Given the description of an element on the screen output the (x, y) to click on. 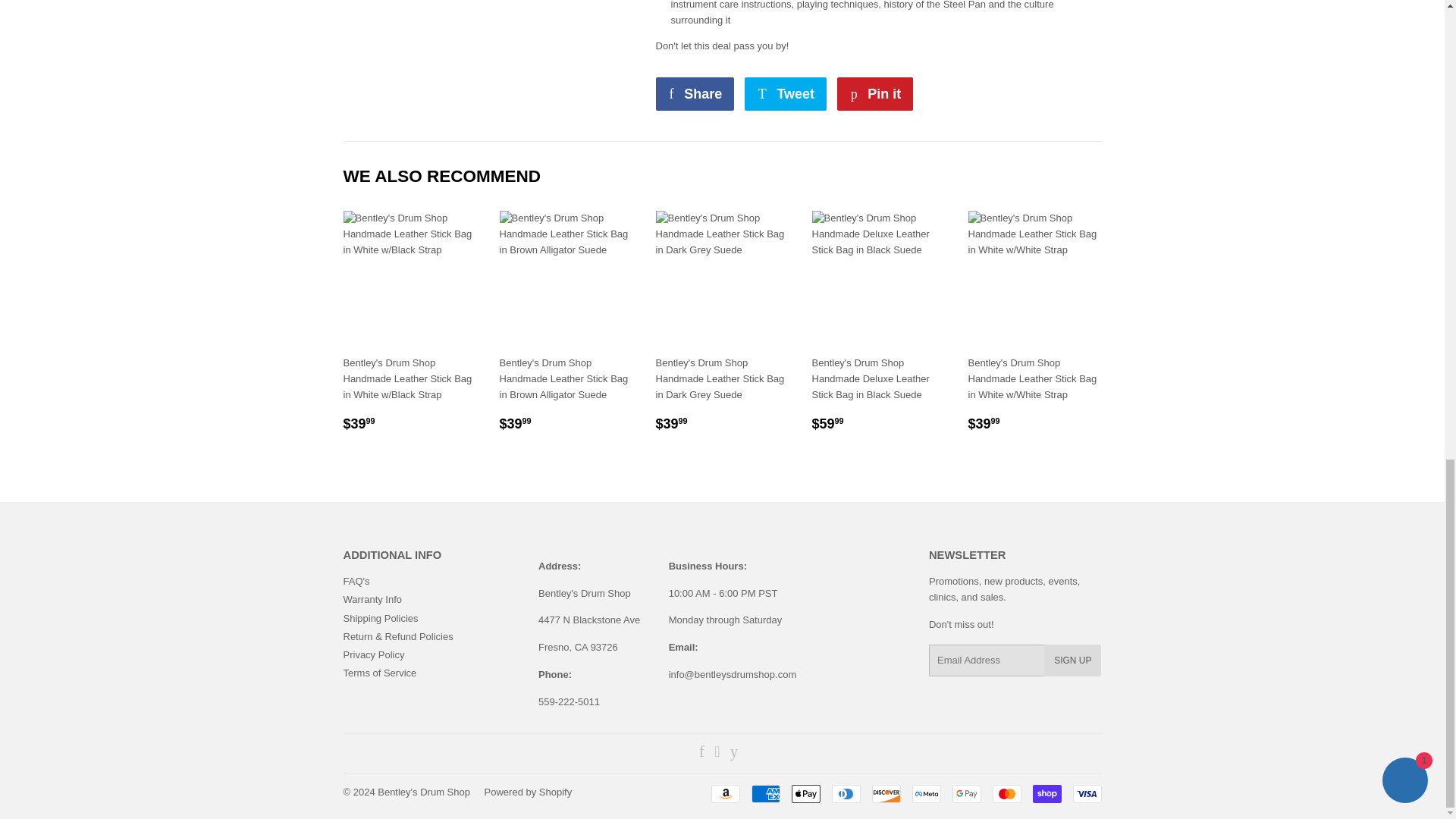
Share on Facebook (694, 93)
Tweet on Twitter (785, 93)
Amazon (725, 793)
Pin on Pinterest (875, 93)
Meta Pay (925, 793)
Apple Pay (806, 793)
Diners Club (845, 793)
Shop Pay (1046, 793)
American Express (764, 793)
Google Pay (966, 793)
Visa (1085, 793)
Mastercard (1005, 793)
Discover (886, 793)
tel:5592225011 (568, 701)
